Given the description of an element on the screen output the (x, y) to click on. 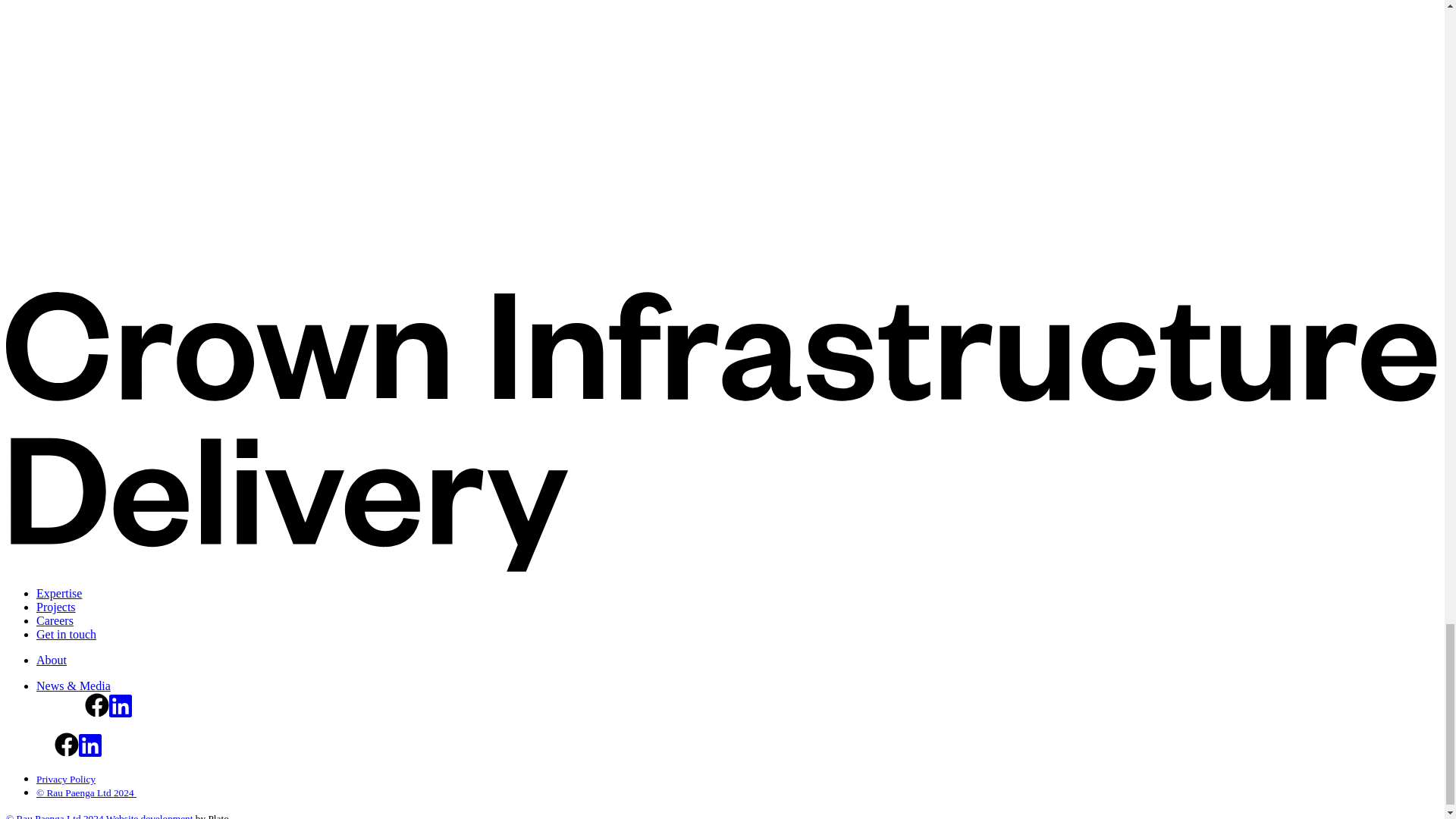
Instagram (42, 752)
Vimeo (48, 712)
About (51, 659)
linkedin (120, 712)
Projects (55, 606)
Get in touch (66, 634)
Facebook (96, 712)
Facebook (66, 752)
Instagram (72, 712)
Expertise (58, 593)
